Given the description of an element on the screen output the (x, y) to click on. 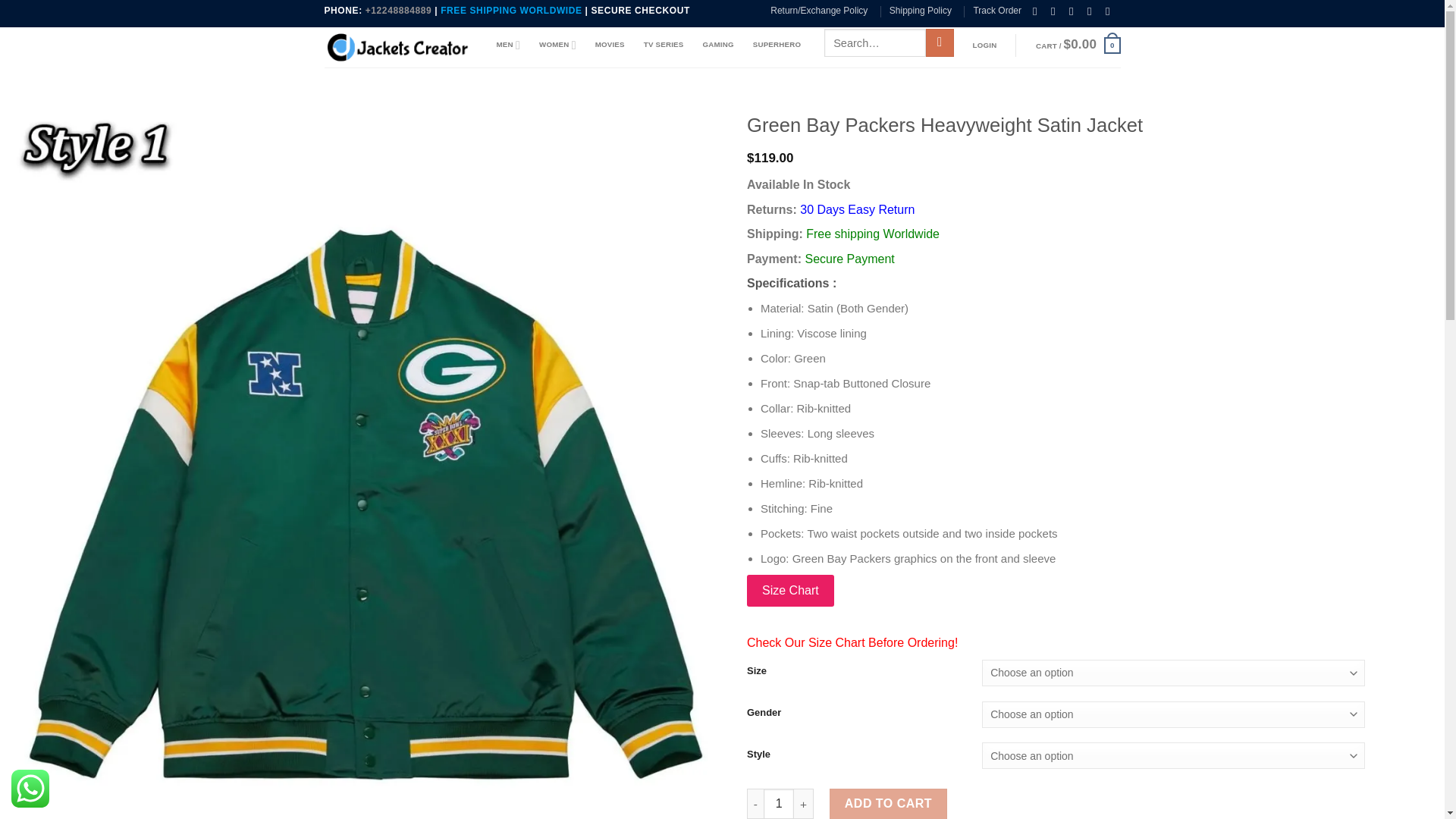
GAMING (717, 44)
WOMEN (557, 44)
Track Order (997, 11)
Shipping Policy (920, 11)
1 (777, 803)
Cart (1078, 45)
TV SERIES (663, 44)
Jackets Creator (399, 47)
